Given the description of an element on the screen output the (x, y) to click on. 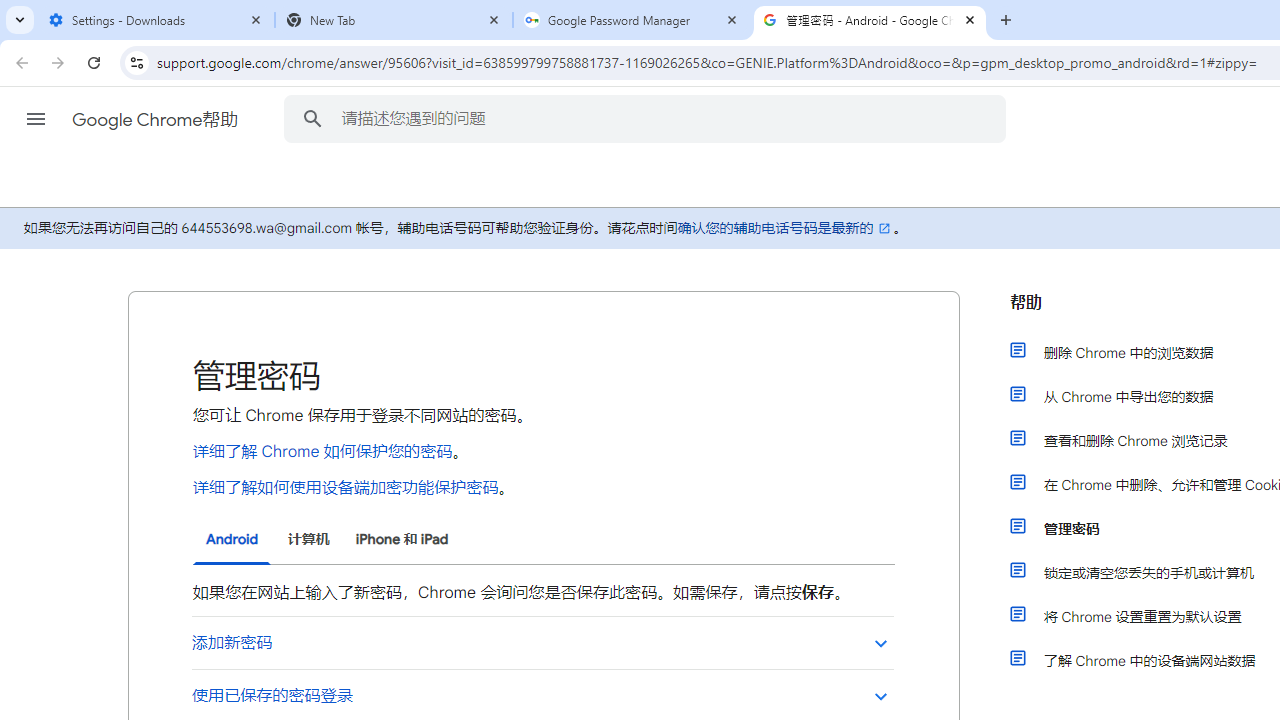
New Tab (394, 20)
Settings - Downloads (156, 20)
